Given the description of an element on the screen output the (x, y) to click on. 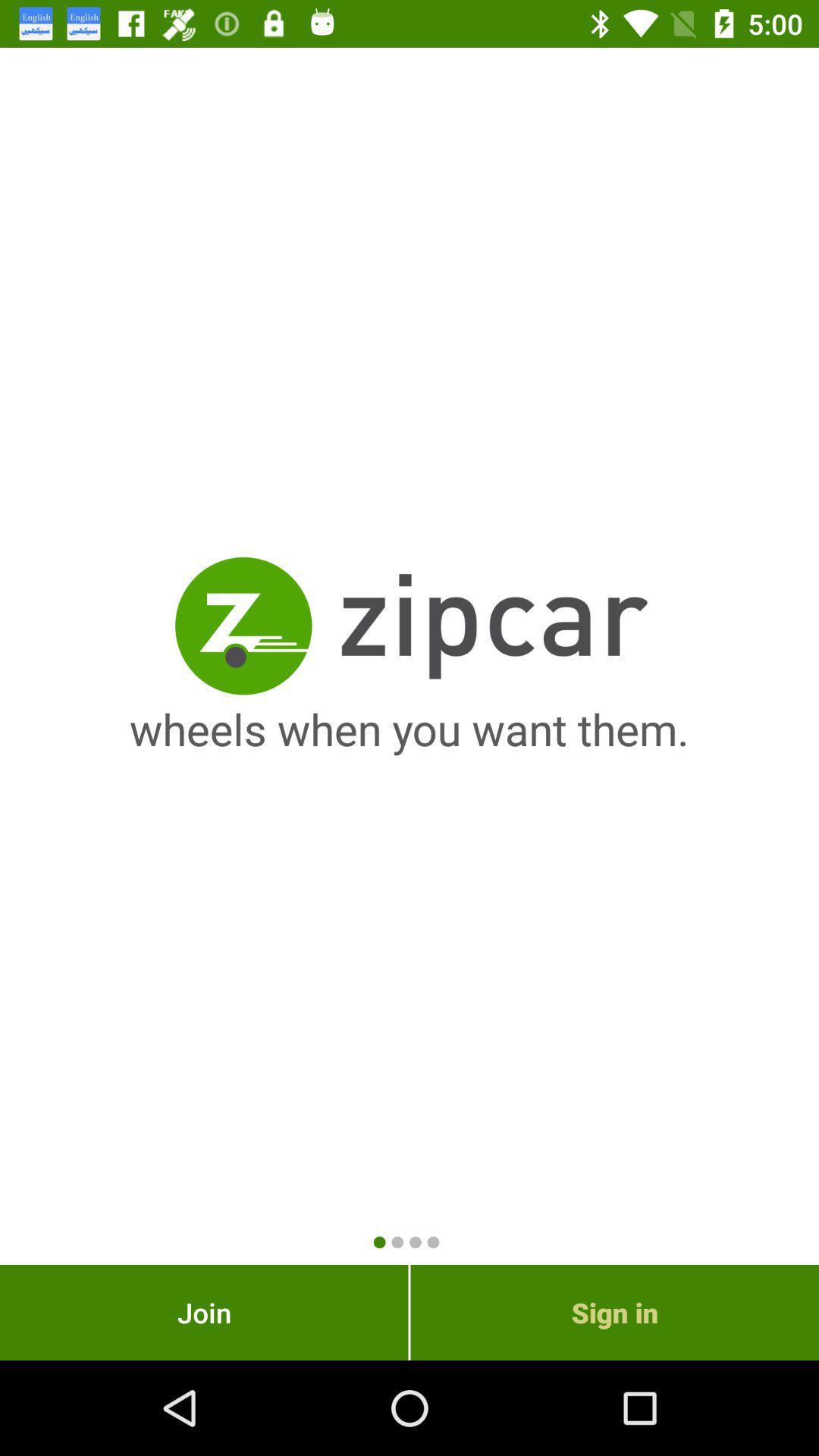
click icon at the bottom left corner (204, 1312)
